Given the description of an element on the screen output the (x, y) to click on. 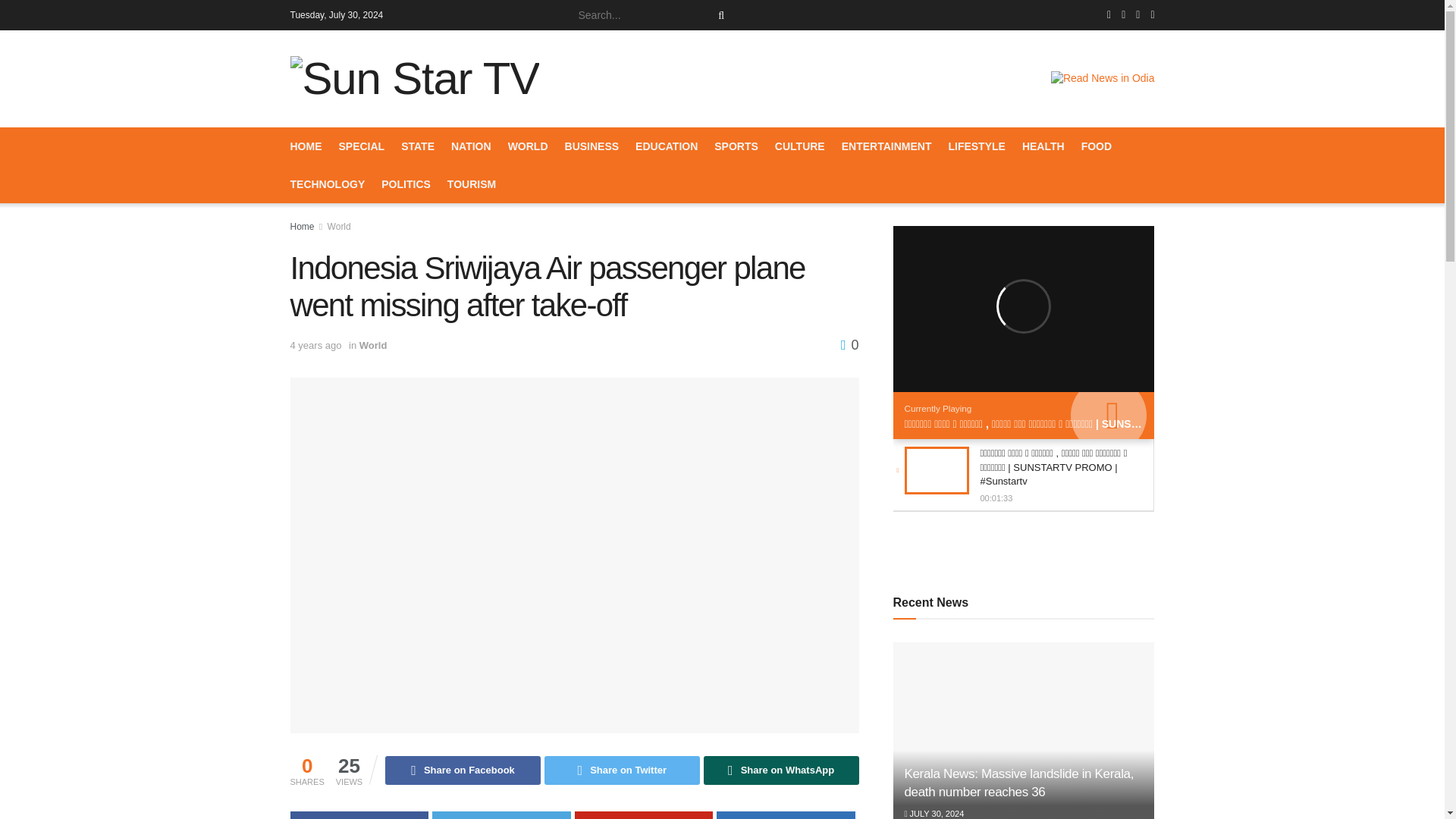
TECHNOLOGY (327, 183)
FOOD (1096, 146)
HEALTH (1043, 146)
CULTURE (799, 146)
NATION (471, 146)
STATE (417, 146)
WORLD (528, 146)
SPECIAL (360, 146)
TOURISM (471, 183)
HOME (305, 146)
EDUCATION (665, 146)
POLITICS (405, 183)
BUSINESS (592, 146)
ENTERTAINMENT (886, 146)
SPORTS (736, 146)
